Given the description of an element on the screen output the (x, y) to click on. 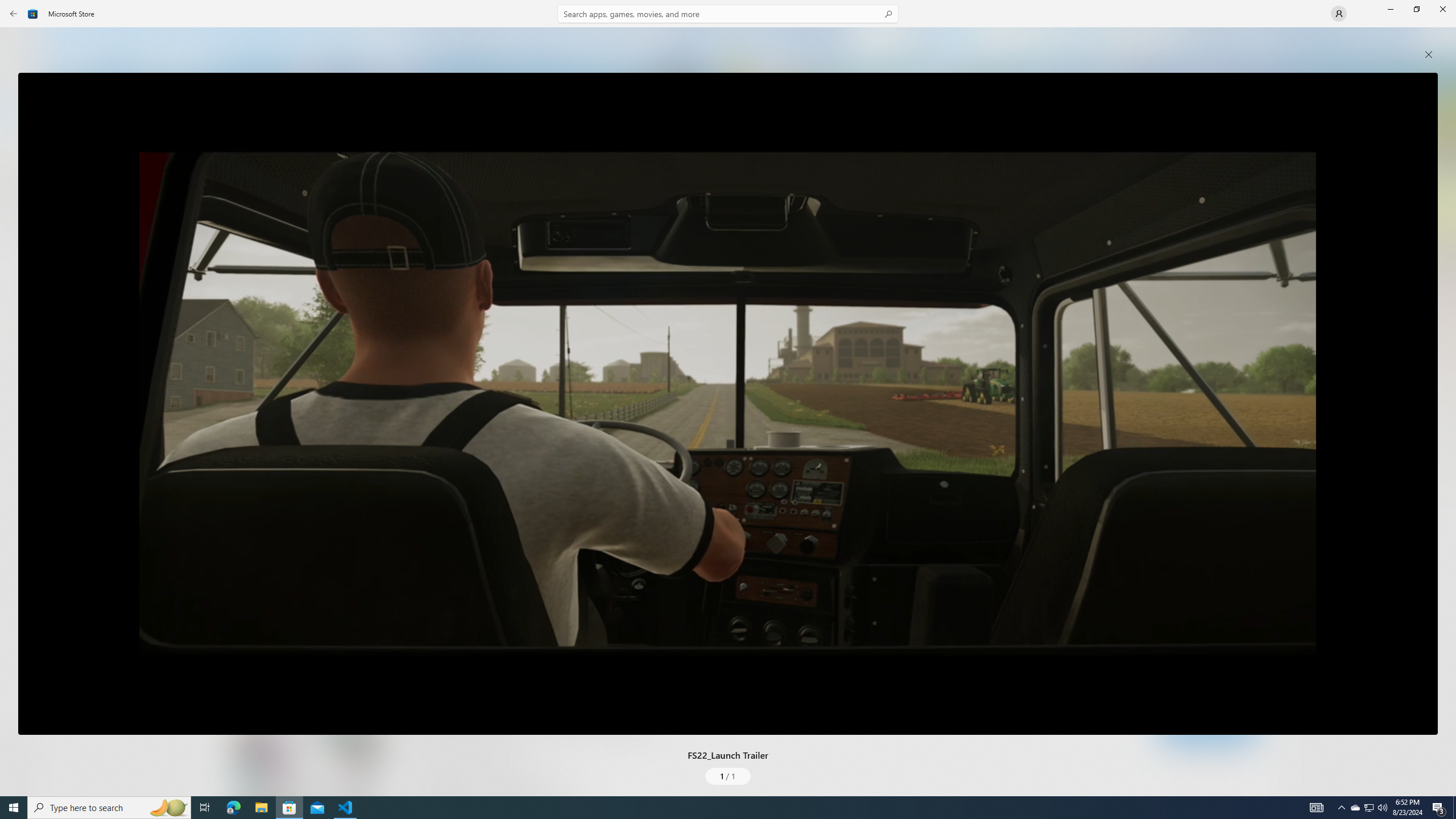
Library (20, 773)
